Given the description of an element on the screen output the (x, y) to click on. 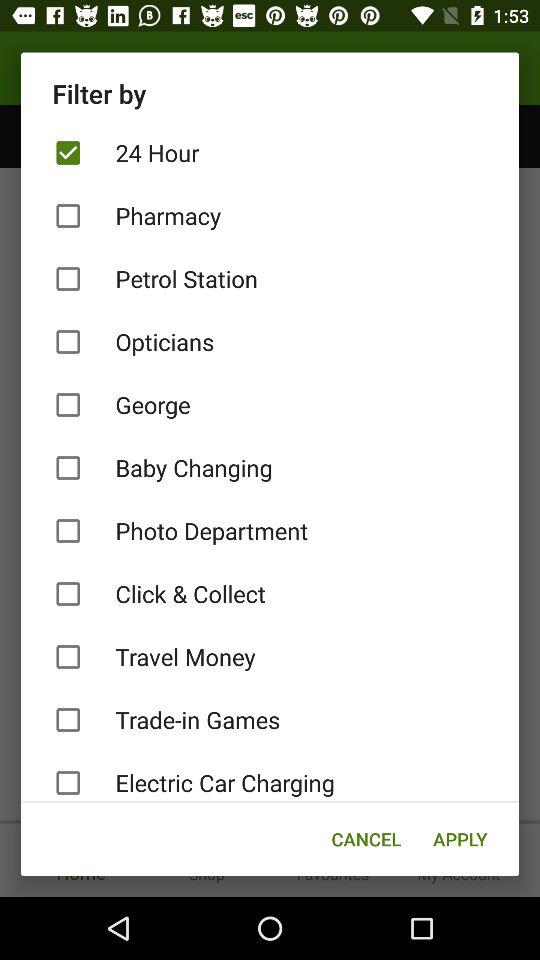
scroll until the 24 hour (270, 152)
